Given the description of an element on the screen output the (x, y) to click on. 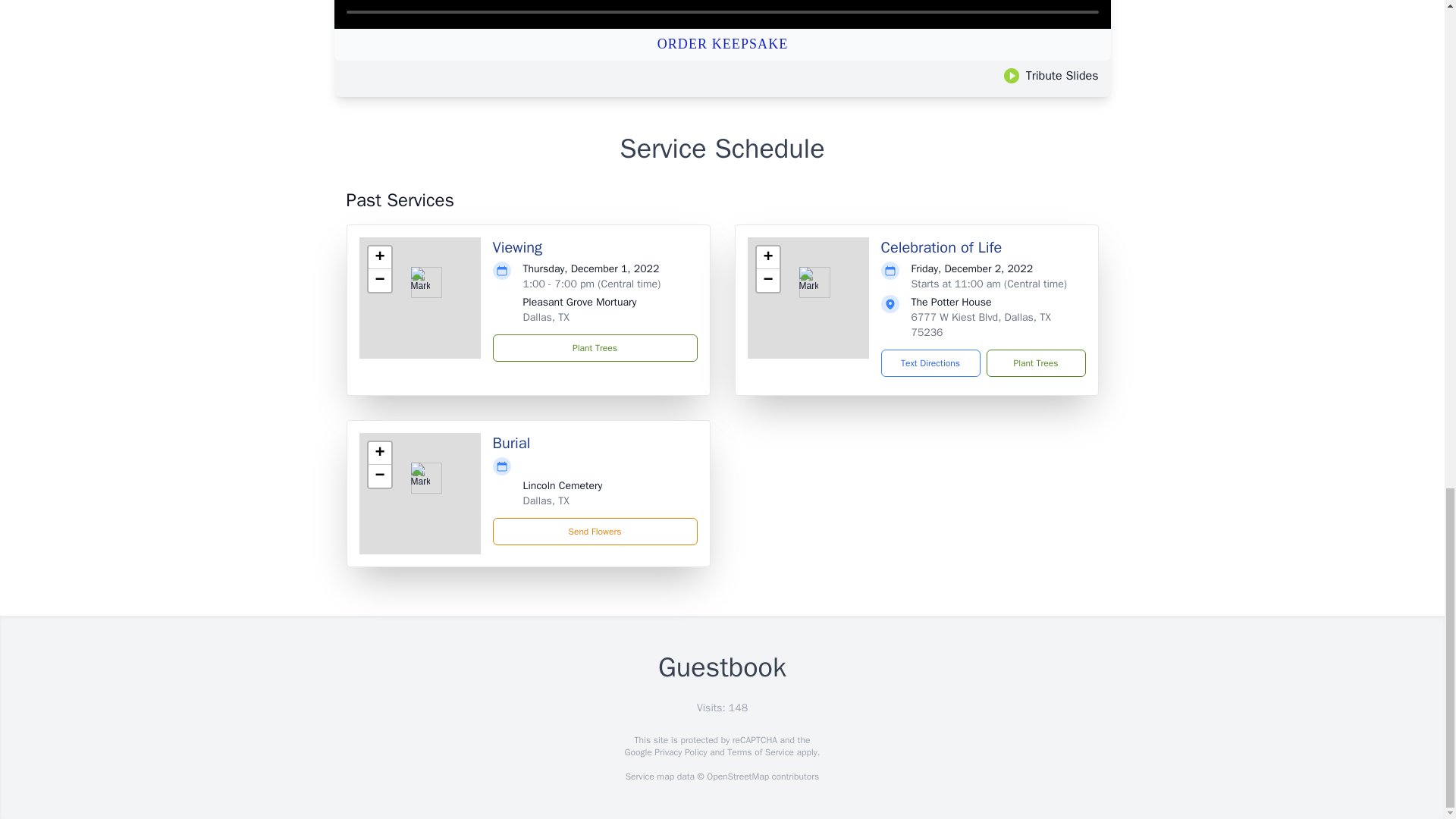
Zoom in (379, 257)
Send Flowers (595, 531)
Privacy Policy (679, 752)
Plant Trees (595, 347)
Zoom out (767, 280)
6777 W Kiest Blvd, Dallas, TX 75236 (981, 325)
Dallas, TX (545, 500)
Dallas, TX (545, 317)
Zoom out (379, 476)
Text Directions (929, 362)
Zoom out (379, 280)
Plant Trees (1034, 362)
Zoom in (379, 453)
Zoom in (767, 257)
